Given the description of an element on the screen output the (x, y) to click on. 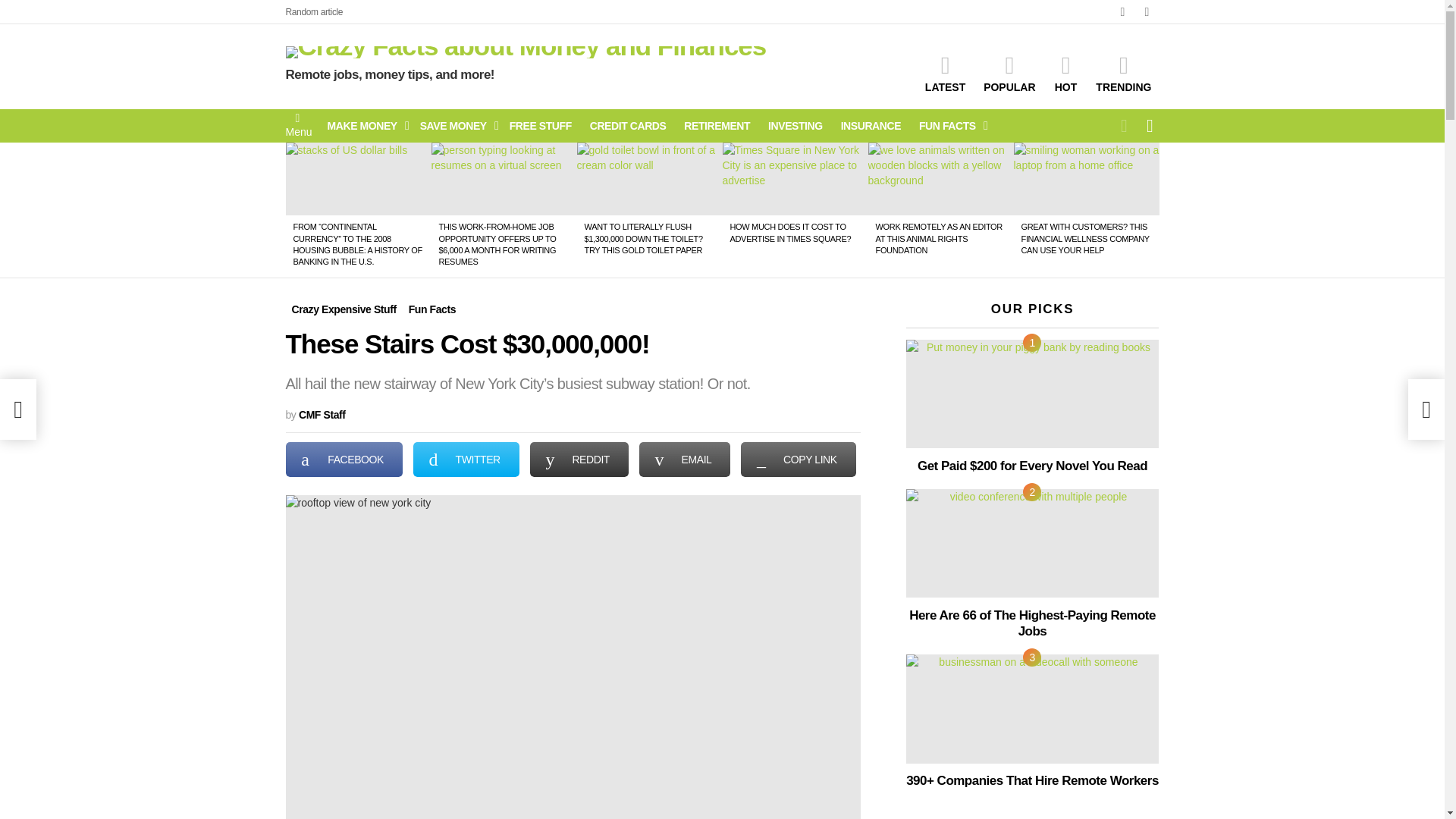
CREDIT CARDS (628, 125)
Share on Reddit (578, 459)
Work Remotely as an Editor at This Animal Rights Foundation (940, 178)
TRENDING (1122, 73)
FREE STUFF (540, 125)
Posts by CMF Staff (322, 414)
HOT (1064, 73)
Share on Facebook (343, 459)
SAVE MONEY (455, 125)
